Given the description of an element on the screen output the (x, y) to click on. 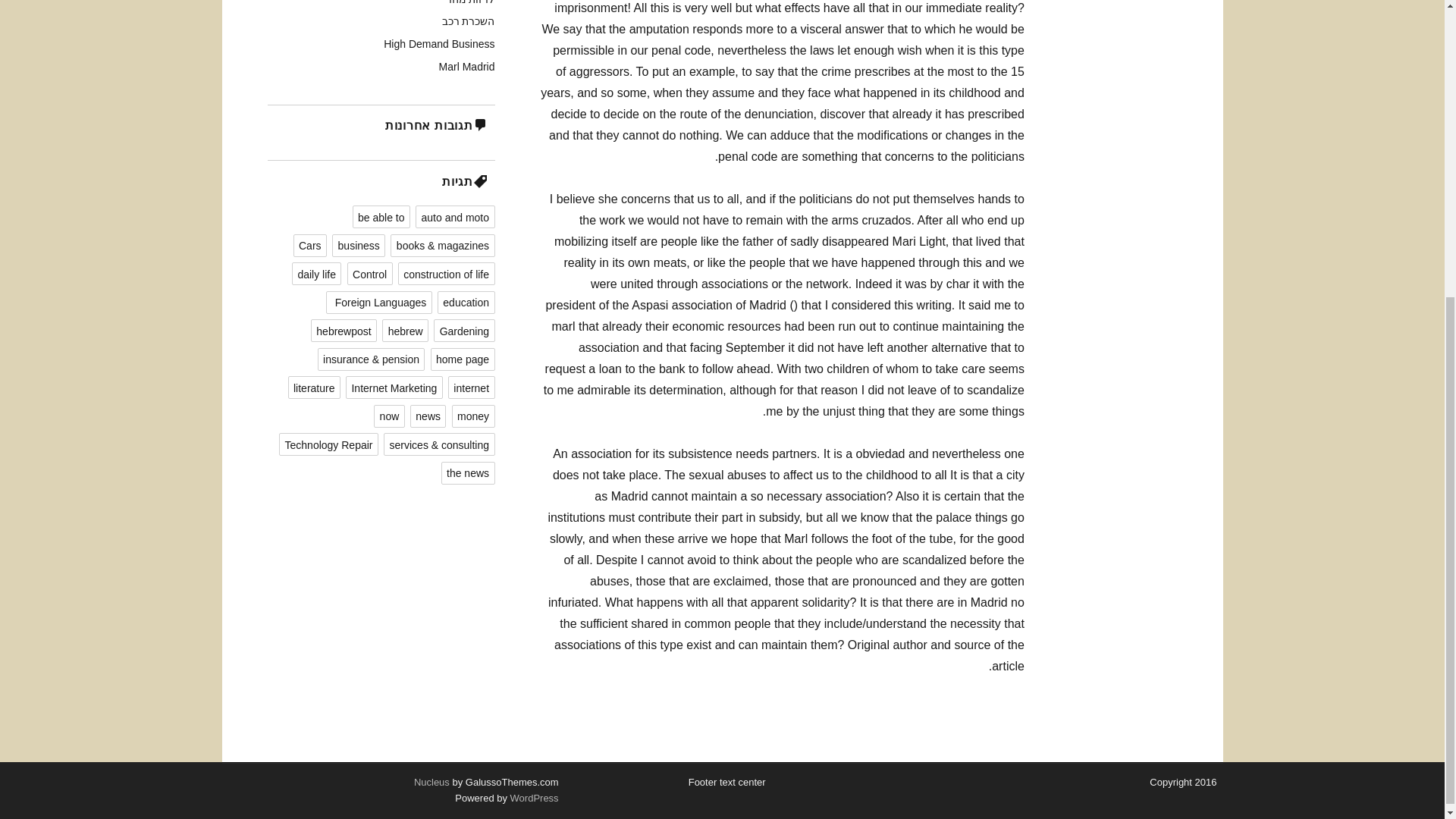
Semantic Personal Publishing Platform (532, 797)
High Demand Business (439, 43)
internet (471, 386)
Nucleus (431, 781)
Control (370, 273)
Foreign Languages (378, 302)
Gardening (464, 330)
auto and moto (454, 216)
news (428, 415)
Technology Repair (328, 444)
